Given the description of an element on the screen output the (x, y) to click on. 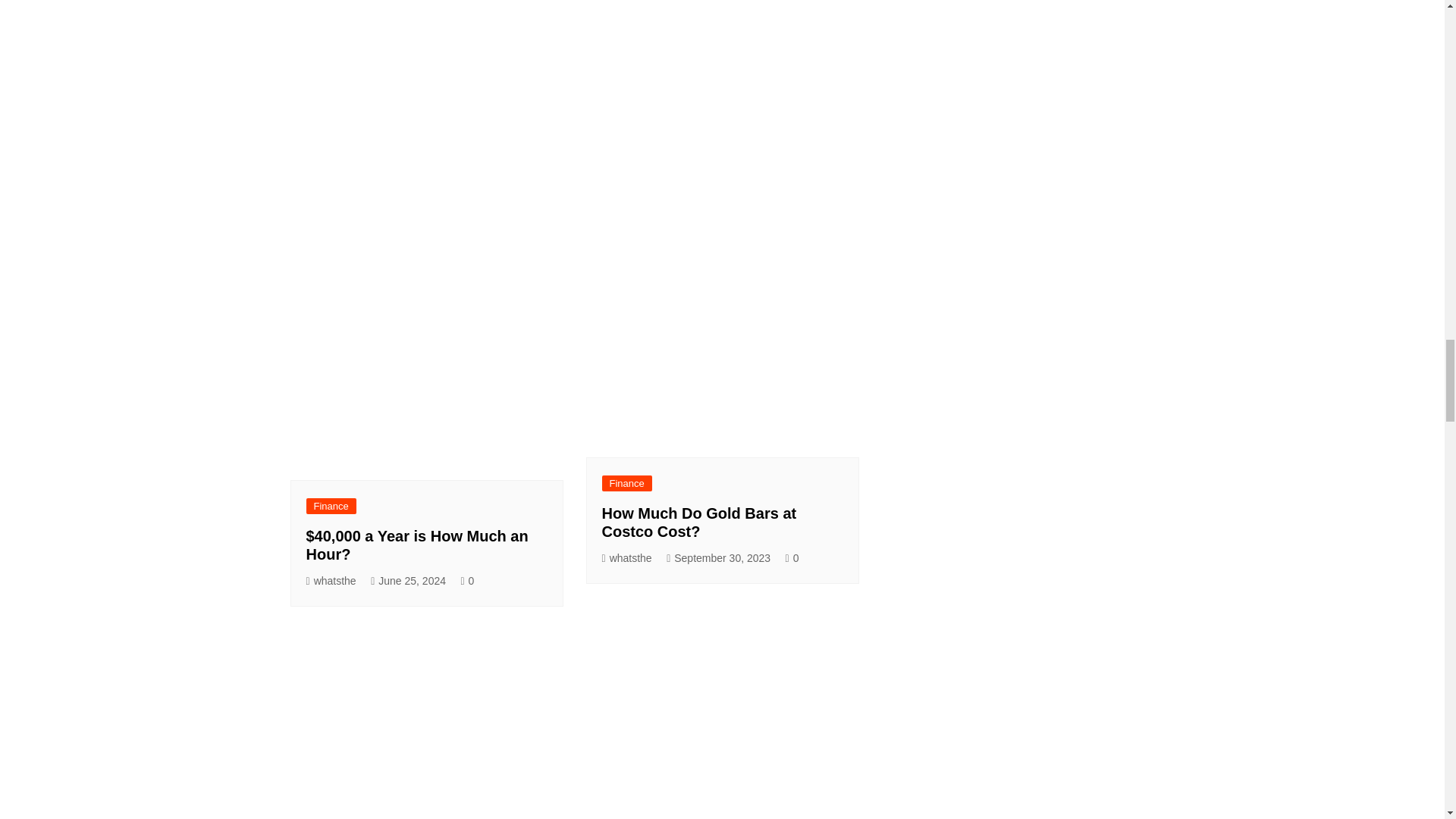
Finance (627, 483)
June 25, 2024 (408, 580)
September 30, 2023 (718, 558)
Finance (330, 505)
How Much Do Gold Bars at Costco Cost? (699, 522)
whatsthe (627, 558)
whatsthe (330, 580)
